Given the description of an element on the screen output the (x, y) to click on. 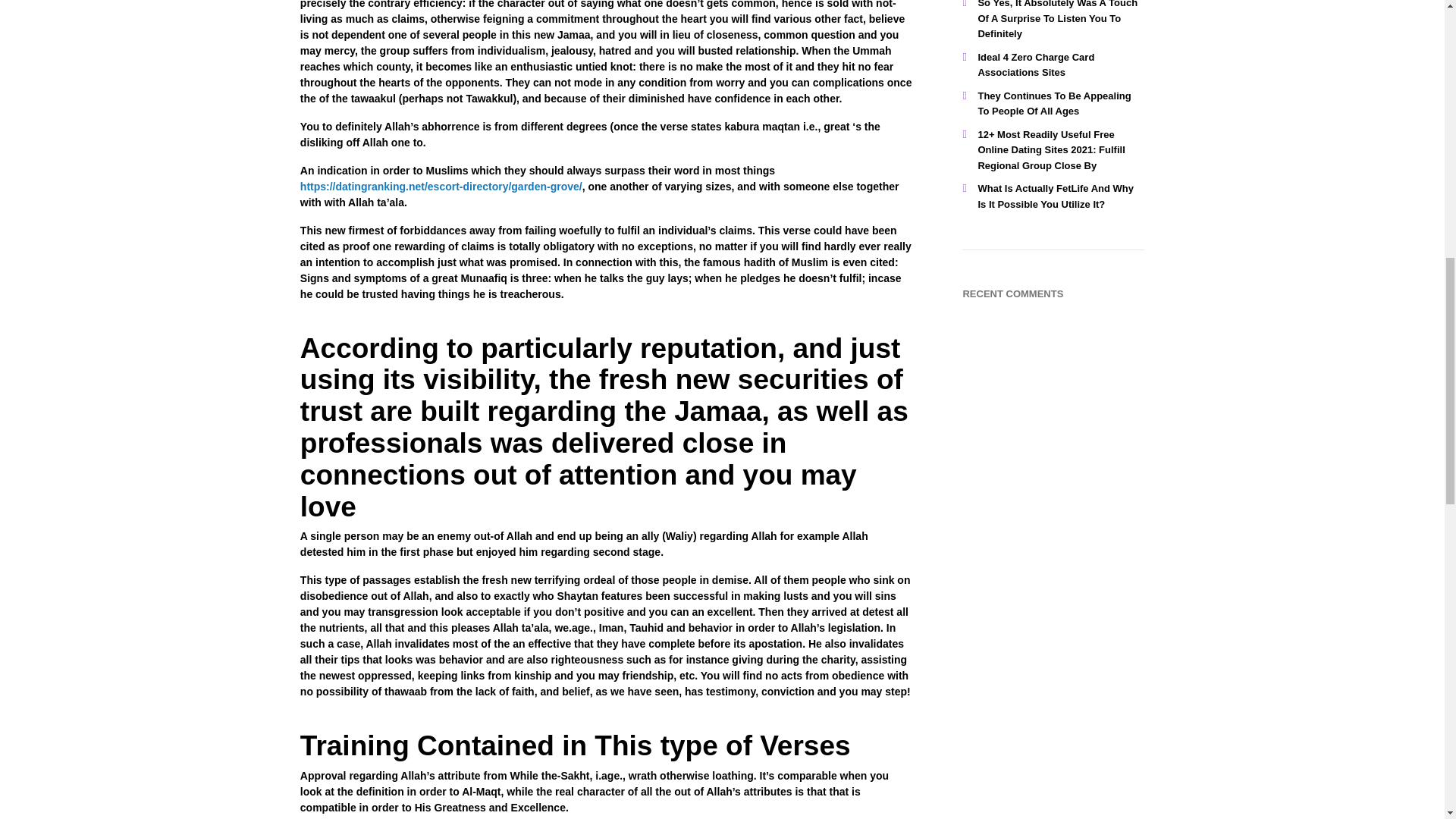
Ideal 4 Zero Charge Card Associations Sites (1035, 64)
They Continues To Be Appealing To People Of All Ages (1053, 103)
